Given the description of an element on the screen output the (x, y) to click on. 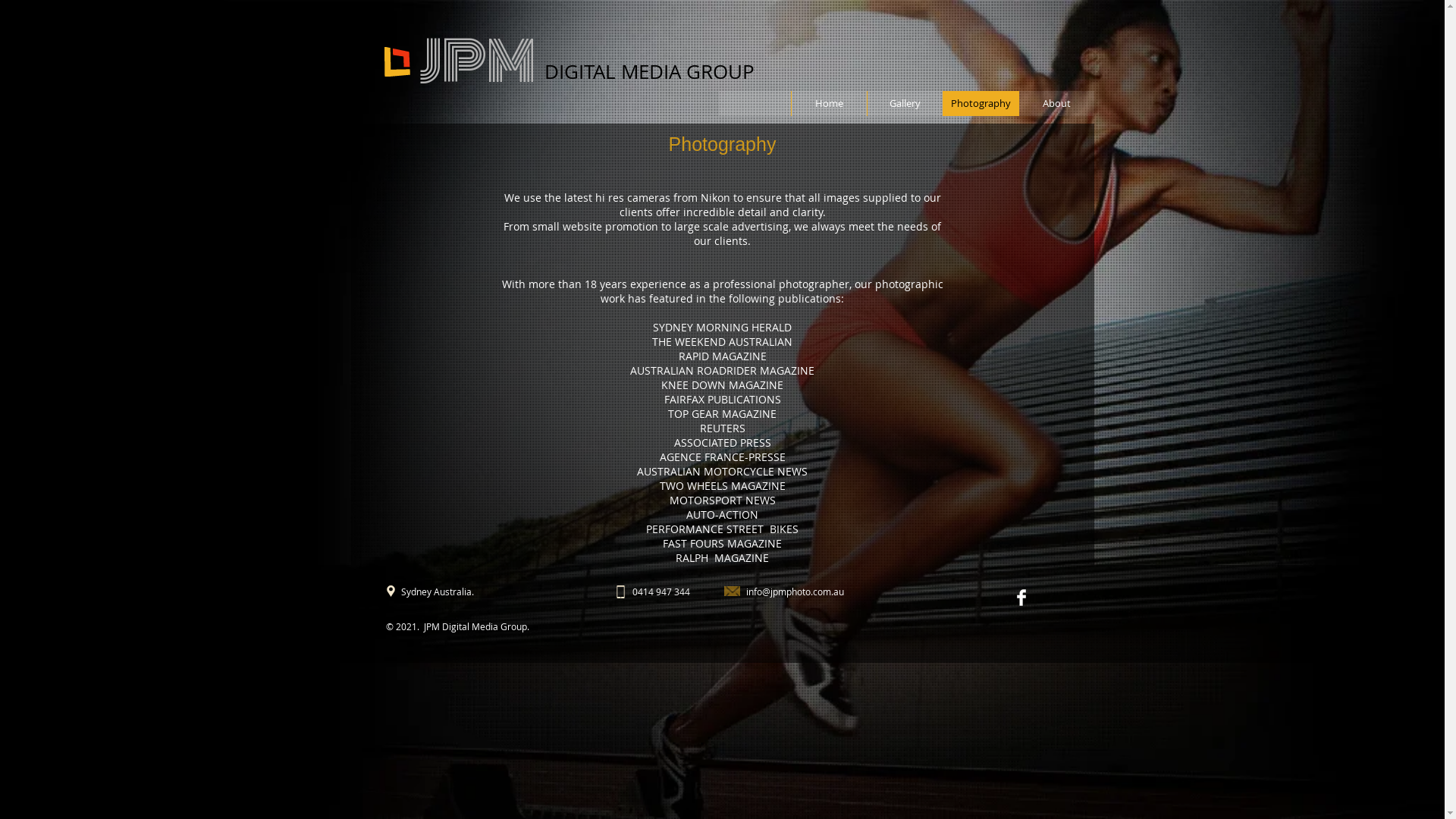
About Element type: text (1055, 103)
JPM Element type: text (477, 61)
Home Element type: text (828, 103)
Photography Element type: text (979, 103)
info@jpmphoto.com.au Element type: text (795, 591)
Gallery Element type: text (903, 103)
